Given the description of an element on the screen output the (x, y) to click on. 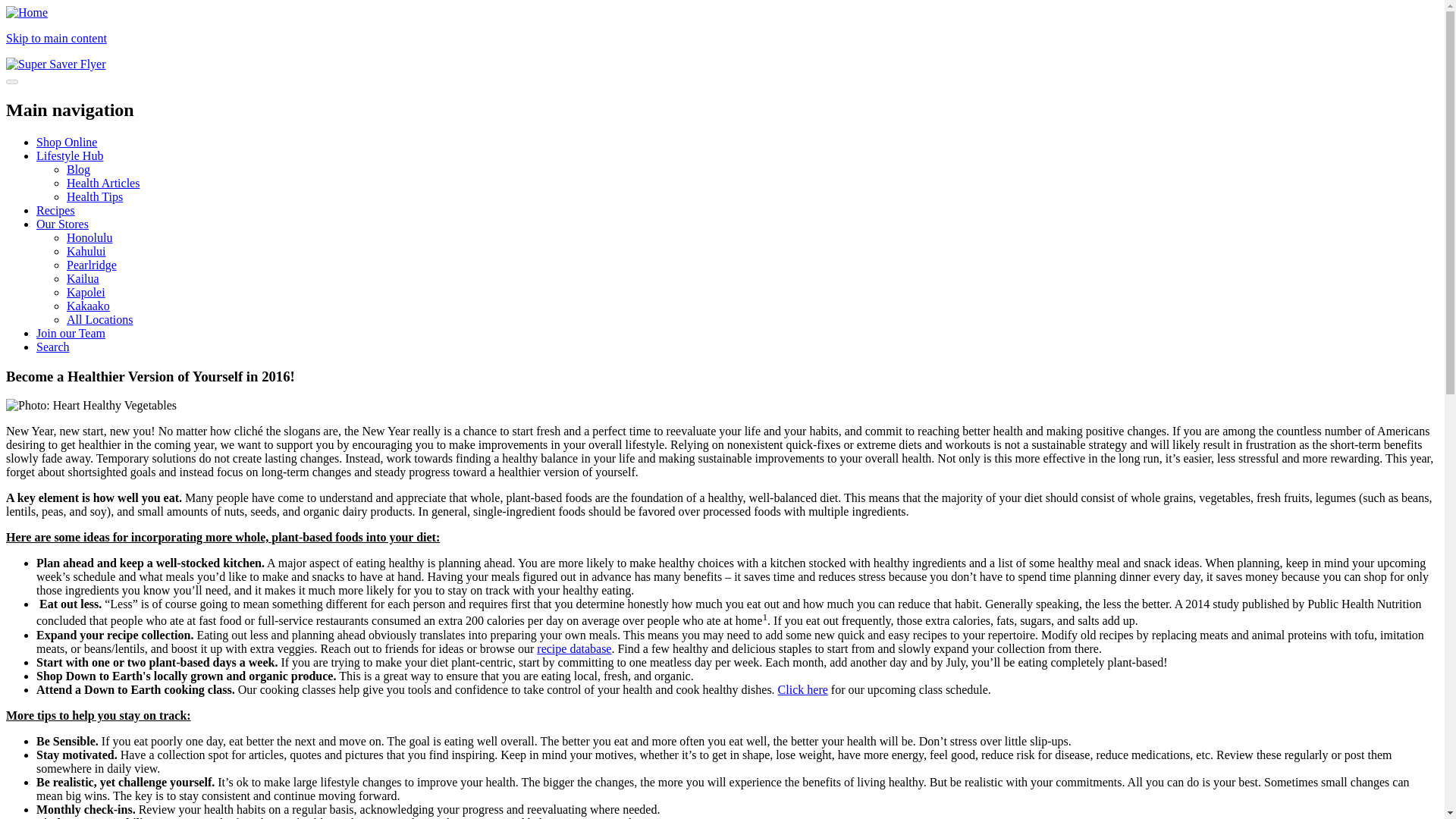
Honolulu (89, 237)
Health Articles (102, 182)
Shop Online (66, 141)
All Locations (99, 318)
recipe database (574, 648)
Skip to main content (55, 38)
Home (26, 11)
Search (52, 346)
Blog (78, 169)
Recipes (55, 210)
